Given the description of an element on the screen output the (x, y) to click on. 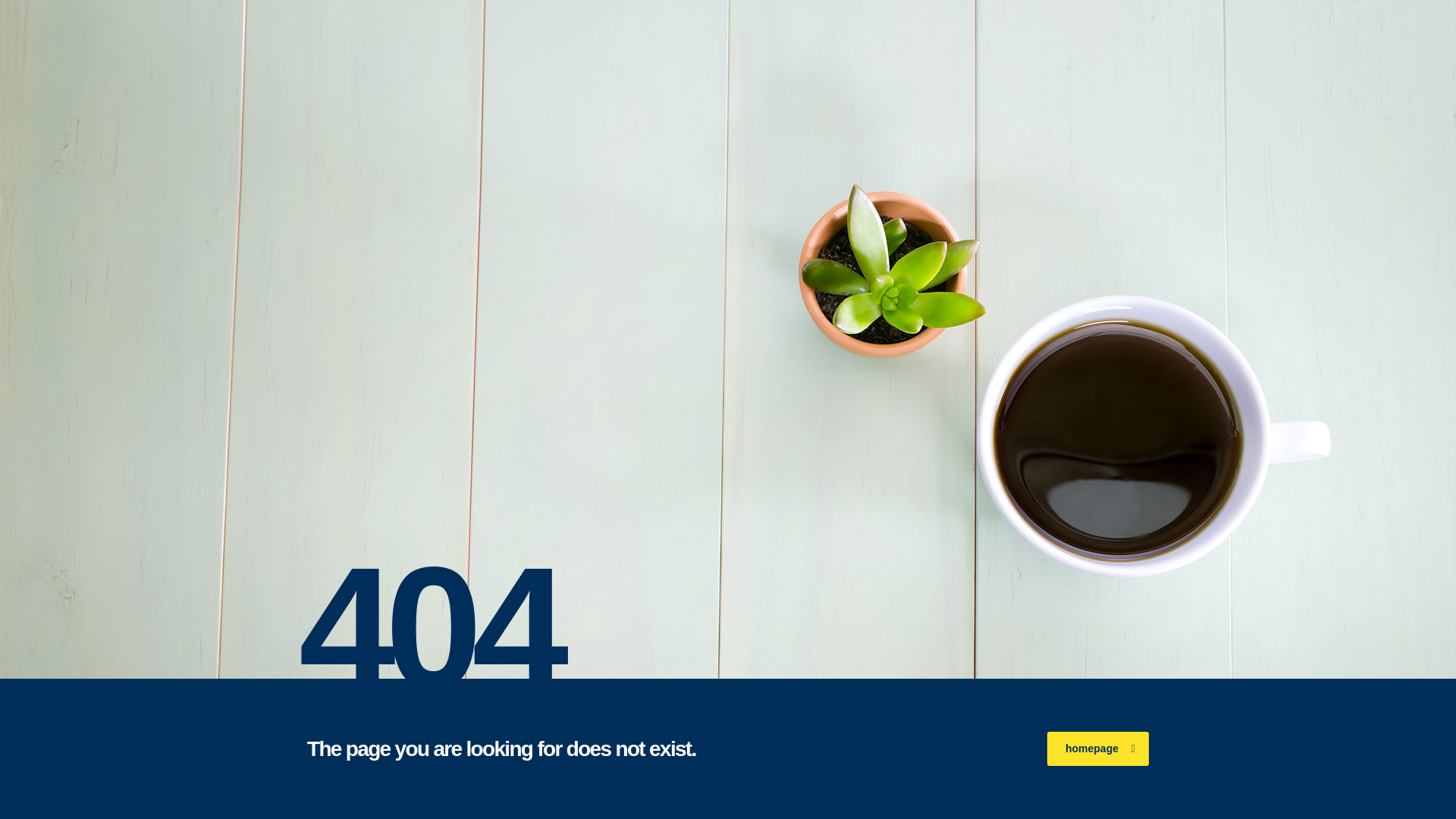
homepage (1097, 748)
